Given the description of an element on the screen output the (x, y) to click on. 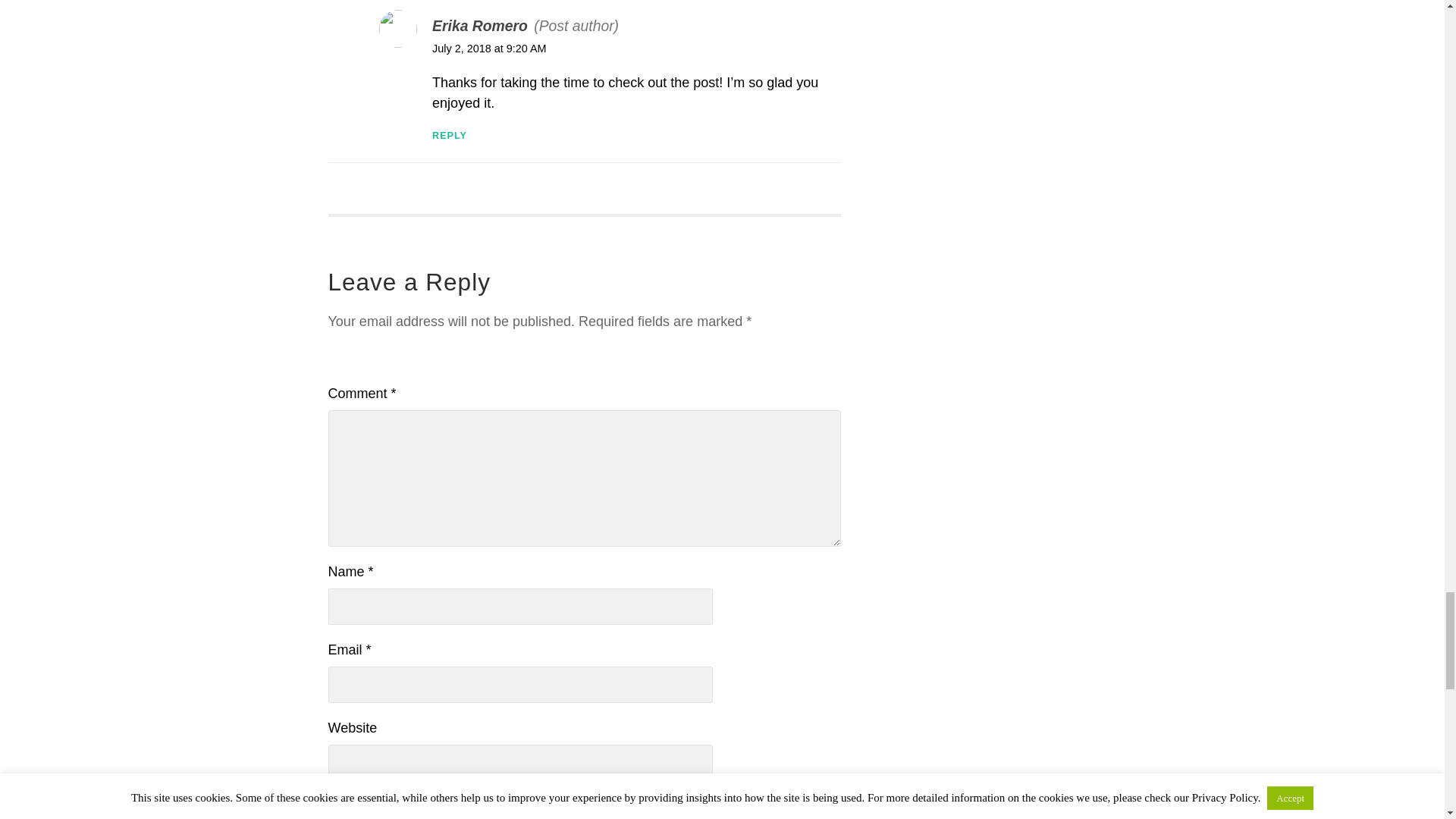
Post Comment (381, 810)
